Given the description of an element on the screen output the (x, y) to click on. 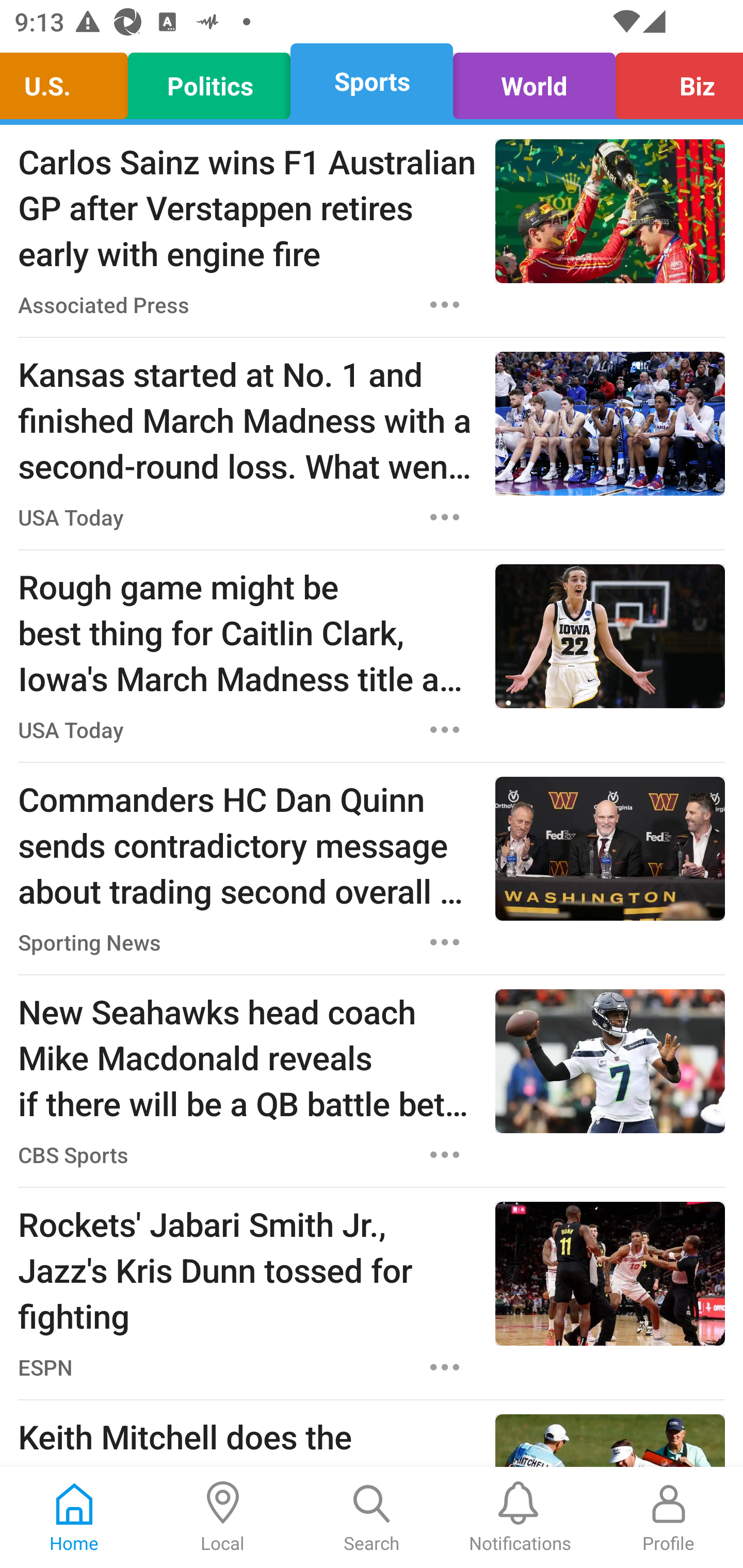
U.S. (69, 81)
Politics (209, 81)
Sports (371, 81)
World (534, 81)
Biz (673, 81)
Options (444, 304)
Options (444, 517)
Options (444, 729)
Options (444, 942)
Options (444, 1154)
Options (444, 1367)
Local (222, 1517)
Search (371, 1517)
Notifications (519, 1517)
Profile (668, 1517)
